Given the description of an element on the screen output the (x, y) to click on. 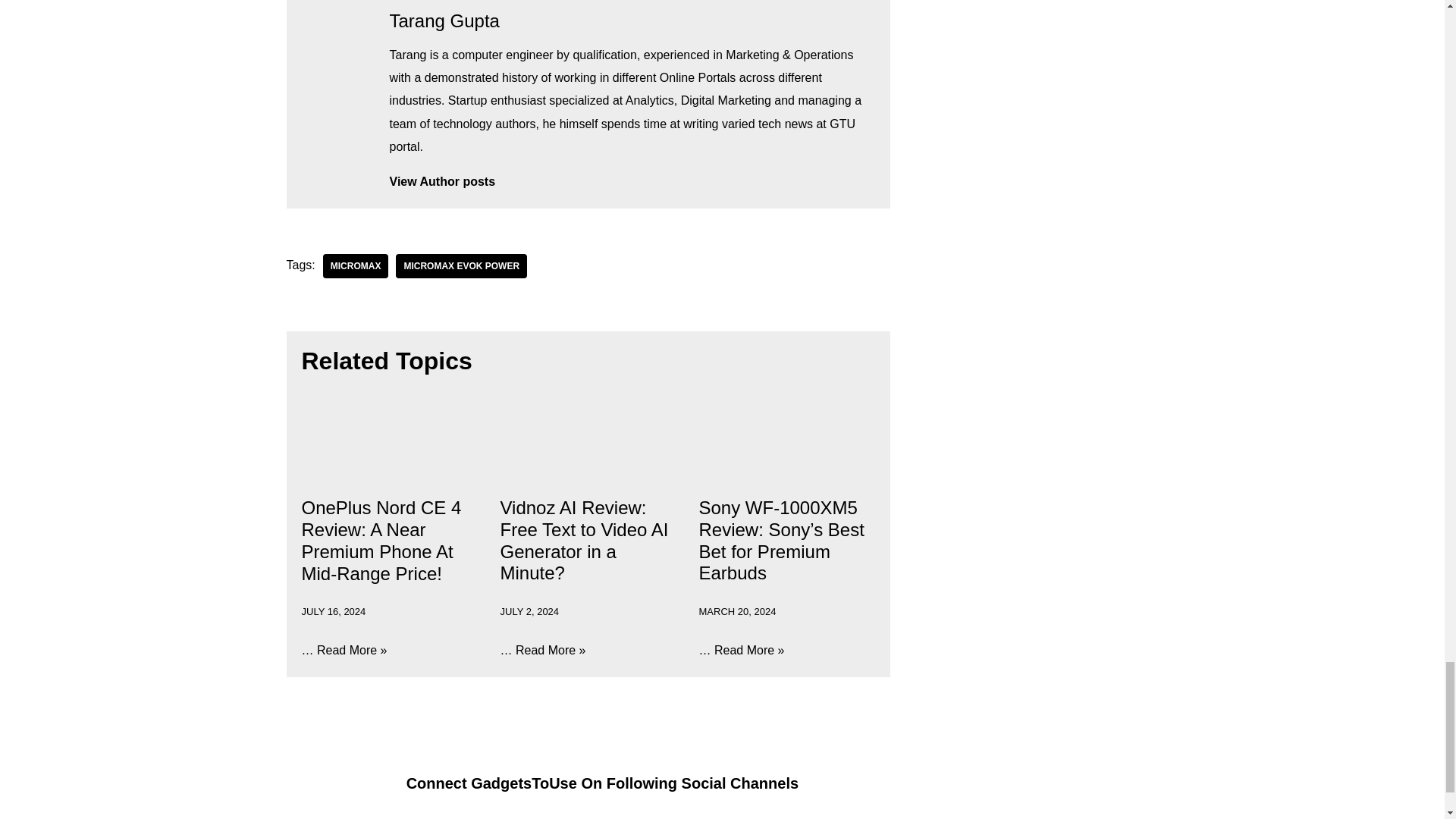
View Author posts (632, 181)
MICROMAX (355, 265)
Micromax Evok Power (461, 265)
Micromax (355, 265)
MICROMAX EVOK POWER (461, 265)
